Given the description of an element on the screen output the (x, y) to click on. 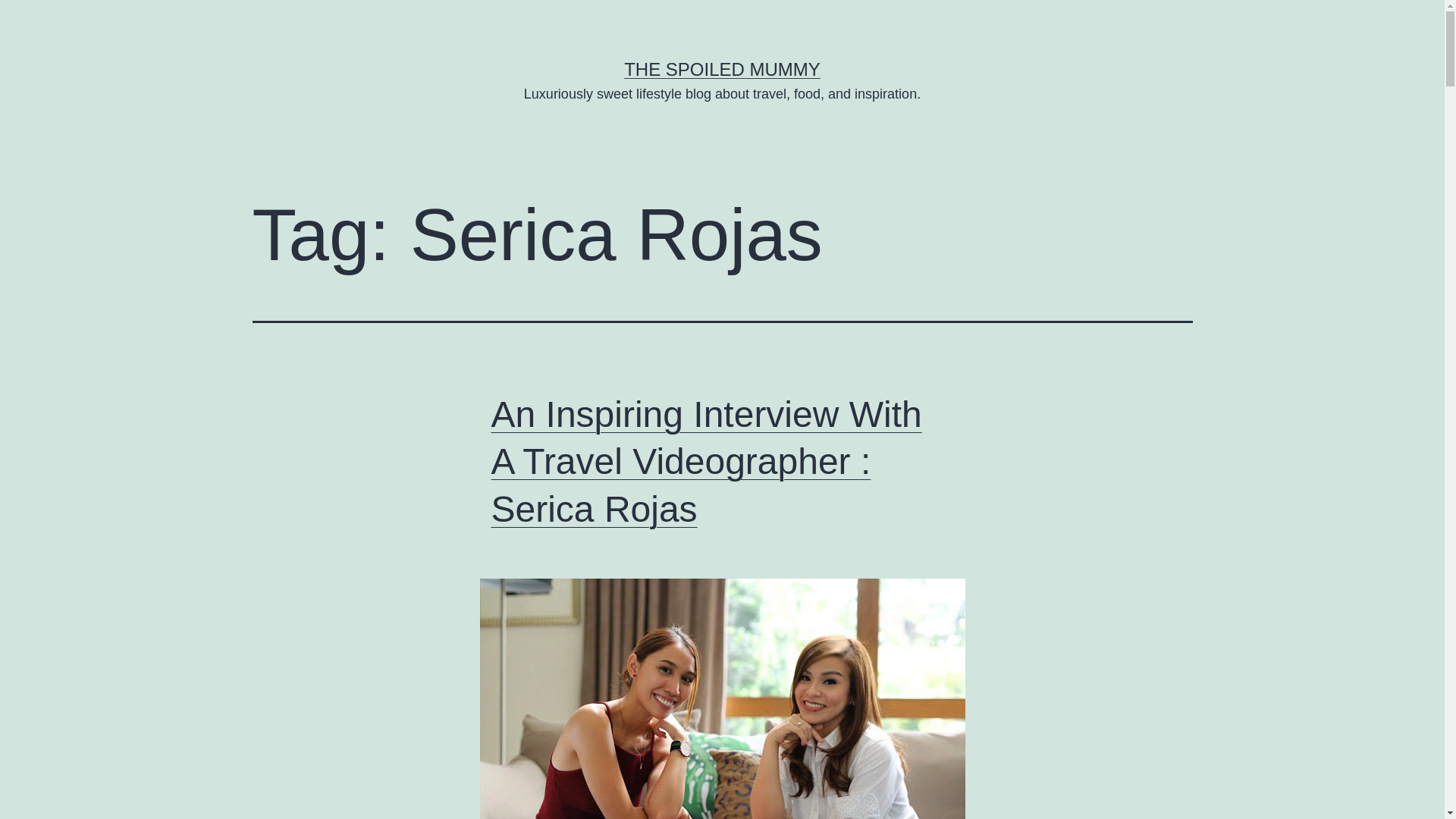
THE SPOILED MUMMY (722, 68)
